Given the description of an element on the screen output the (x, y) to click on. 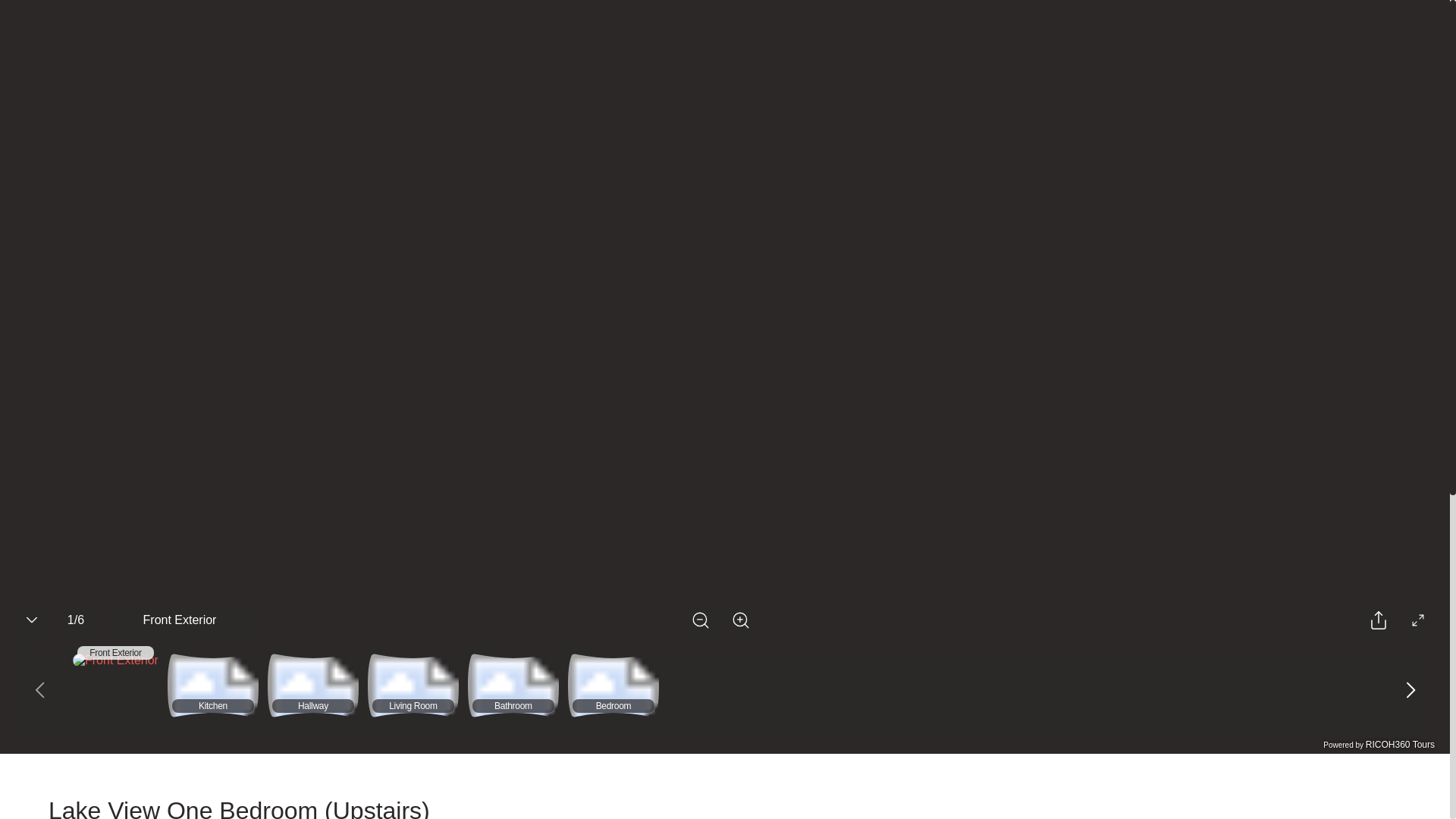
Bedroom (613, 686)
Bathroom (513, 686)
Powered by RICOH360 Tours (1378, 744)
Living Room (413, 686)
Front Exterior (115, 660)
Full Screen (1417, 620)
Hallway (312, 686)
SNS Share (1377, 620)
Kitchen (213, 686)
